Given the description of an element on the screen output the (x, y) to click on. 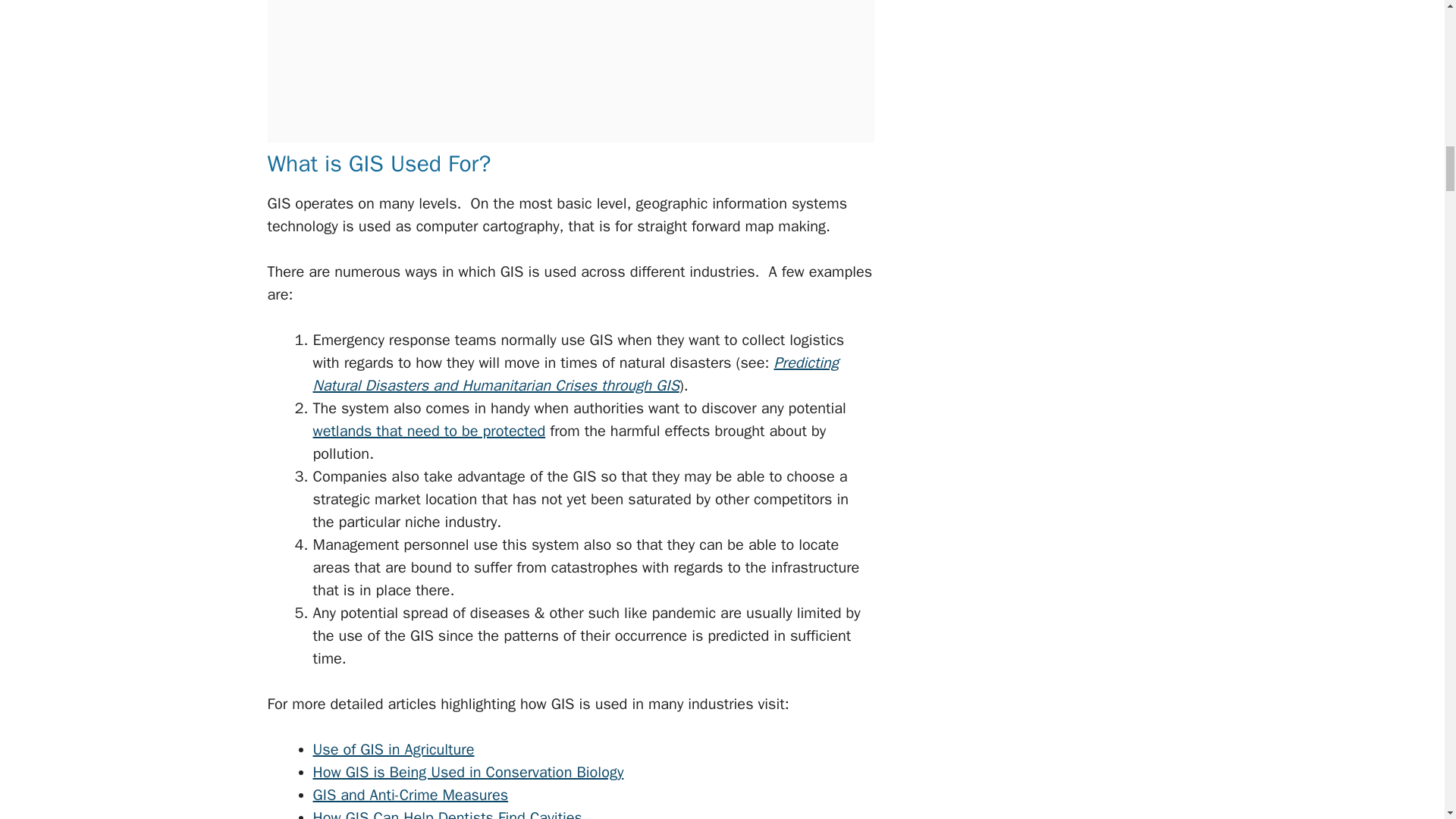
How GIS Can Help Dentists Find Cavities (446, 813)
GIS and Anti-Crime Measures (410, 794)
wetlands that need to be protected (428, 430)
How GIS is Being Used in Conservation Biology (468, 772)
Use of GIS in Agriculture (393, 749)
